Given the description of an element on the screen output the (x, y) to click on. 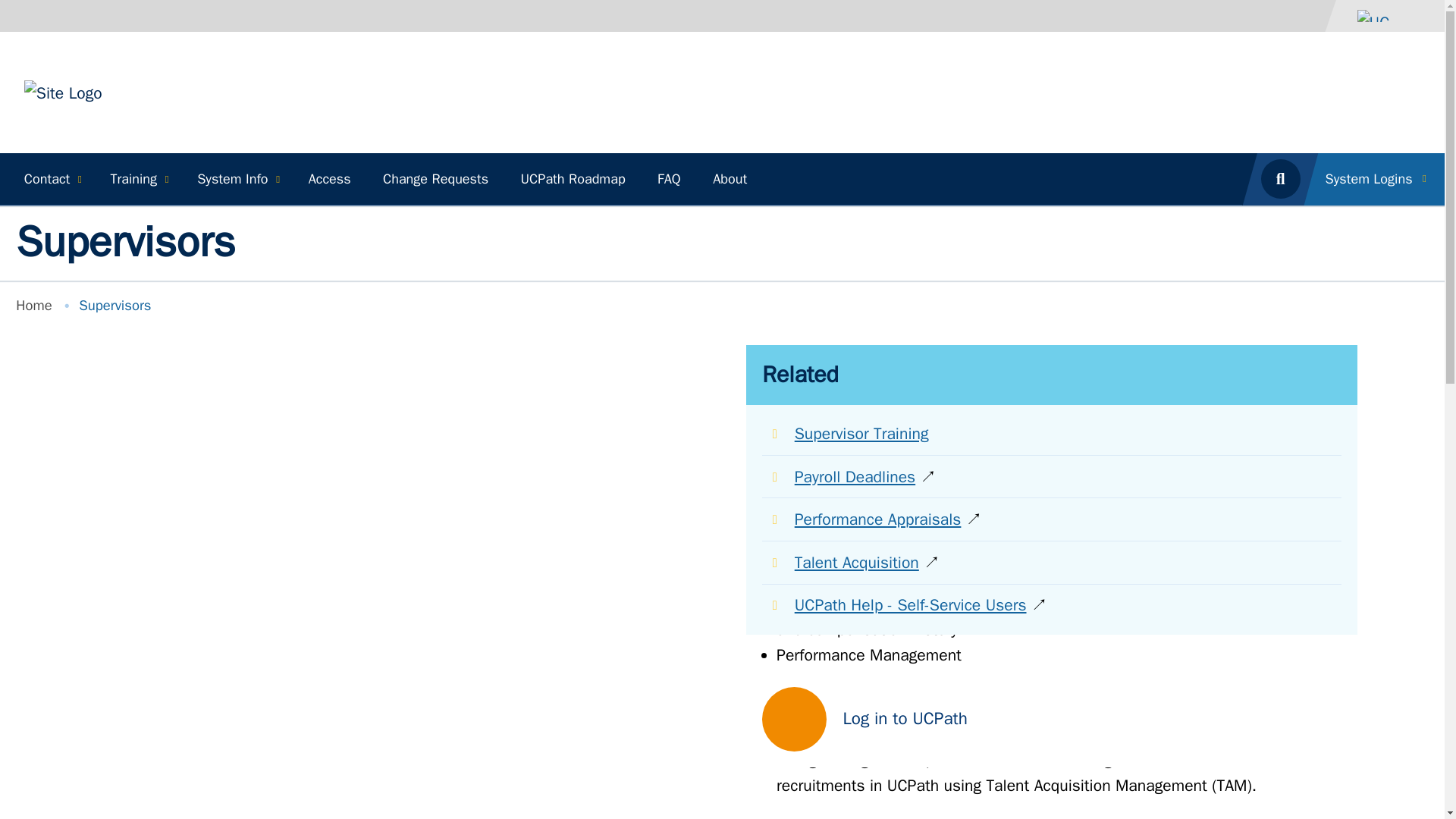
Home (34, 305)
Supervisor Training (861, 433)
Home (62, 91)
Performance Appraisals (877, 519)
Payroll Deadlines (854, 476)
Change Requests (435, 179)
Access (328, 179)
UCPath Roadmap (572, 179)
System Info (236, 179)
